Given the description of an element on the screen output the (x, y) to click on. 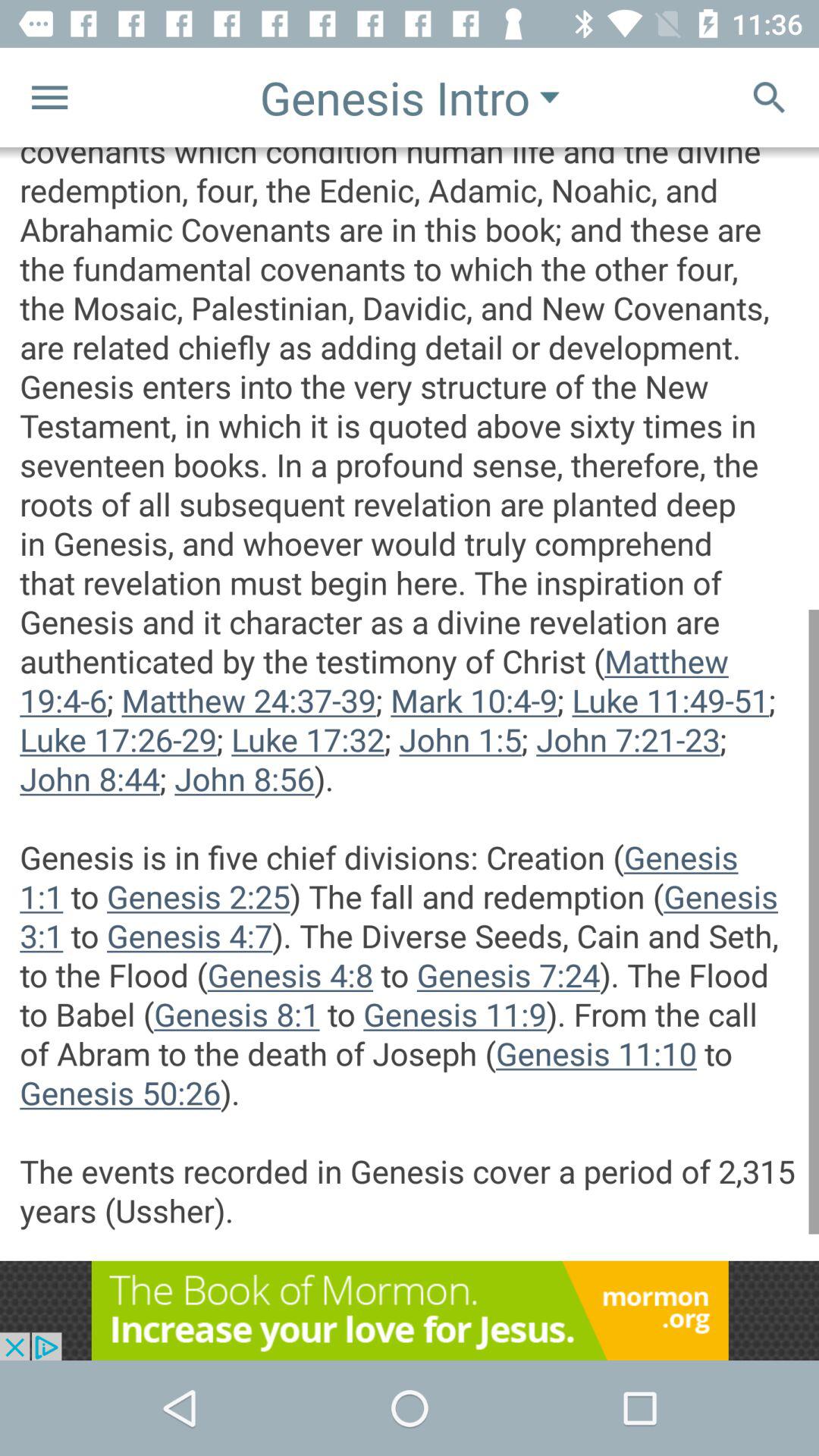
menu button (49, 97)
